Given the description of an element on the screen output the (x, y) to click on. 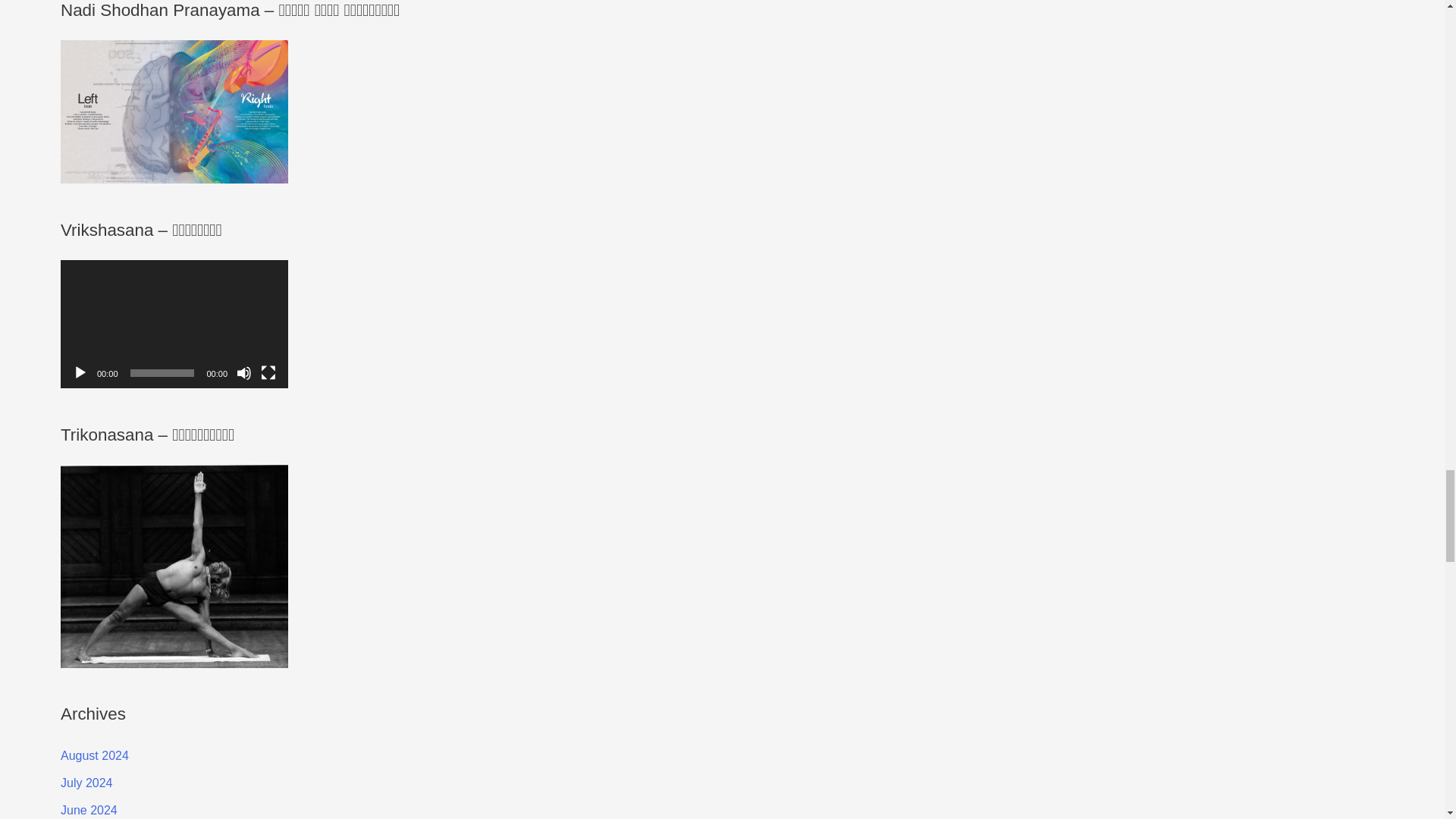
Mute (243, 372)
Play (79, 372)
Fullscreen (268, 372)
